Given the description of an element on the screen output the (x, y) to click on. 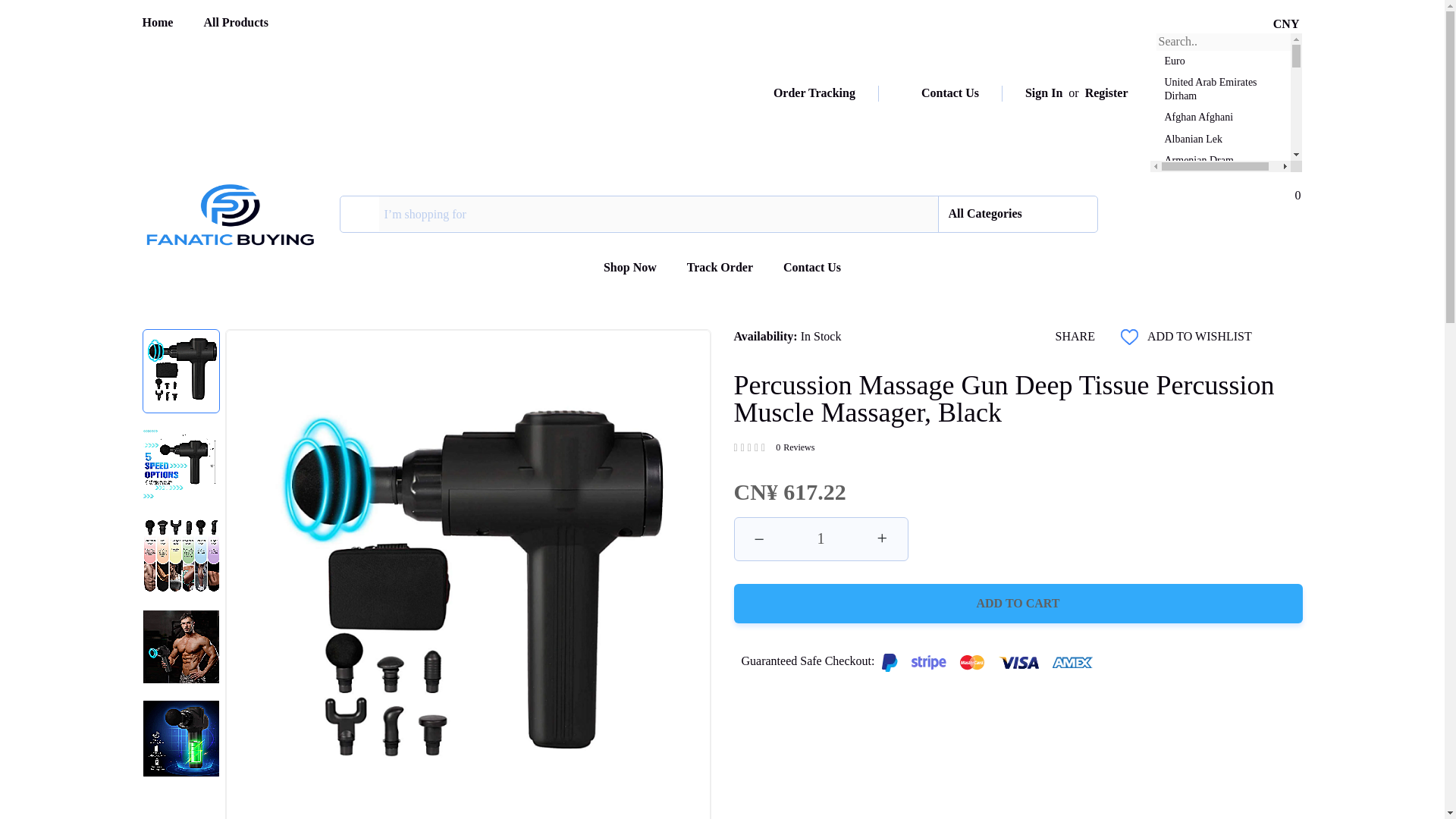
Euro (1218, 61)
CNY (1286, 24)
All Products (235, 21)
Norwegian Krone (1218, 473)
Canadian Dollar (1218, 537)
Brunei Dollar (1218, 409)
CFA Franc BEAC (1218, 579)
Azerbaijani Manat (1218, 245)
Home (157, 21)
Czech Republic Koruna (1218, 751)
1 (821, 538)
US Dollar (1218, 202)
Burundian Franc (1218, 387)
Argentine Peso (1218, 181)
Botswanan Pula (1218, 495)
